Given the description of an element on the screen output the (x, y) to click on. 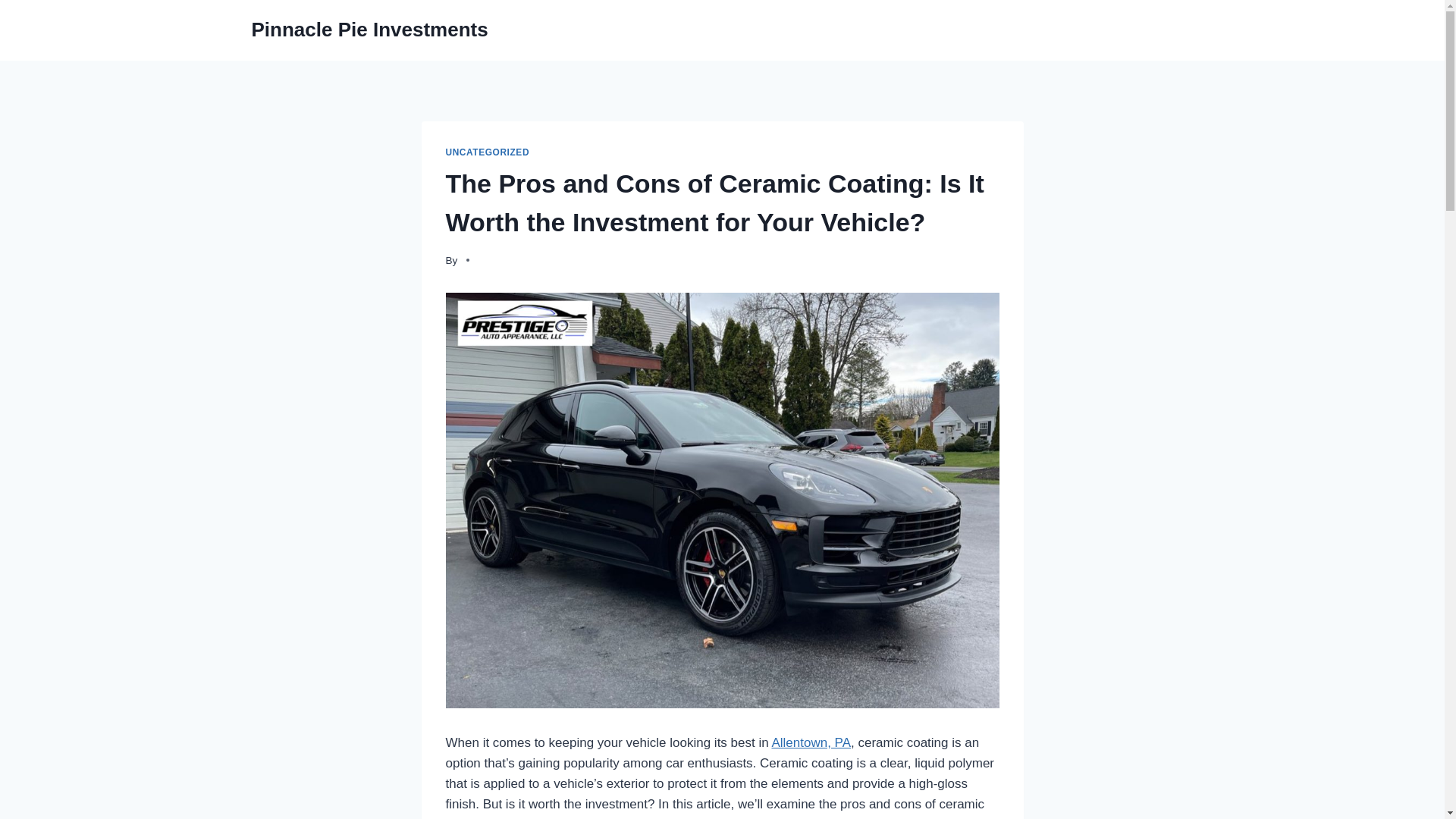
Pinnacle Pie Investments (369, 29)
Allentown, PA (810, 742)
UNCATEGORIZED (487, 152)
